Given the description of an element on the screen output the (x, y) to click on. 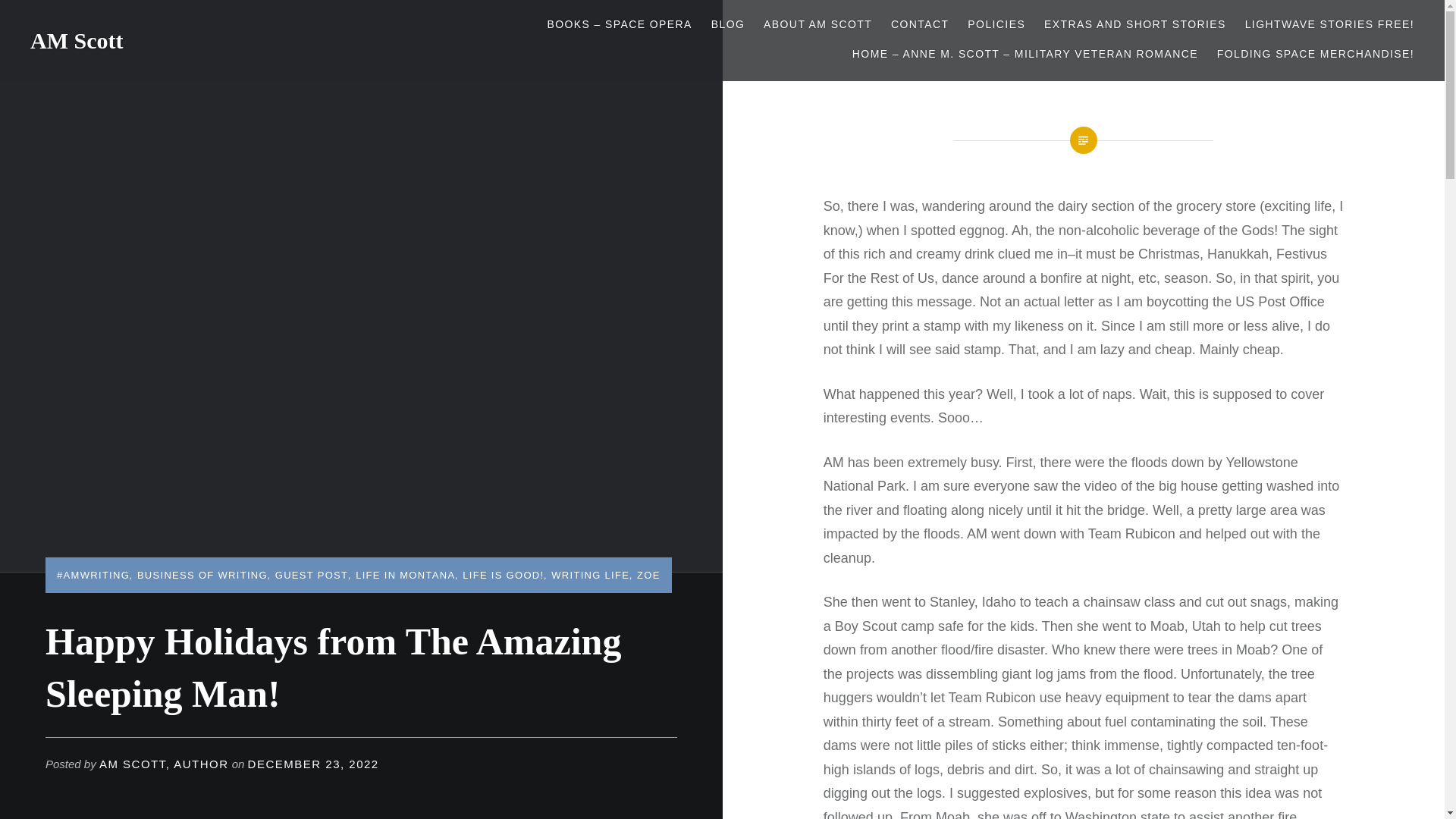
ABOUT AM SCOTT (817, 24)
CONTACT (920, 24)
EXTRAS AND SHORT STORIES (1134, 24)
ZOE (649, 574)
FOLDING SPACE MERCHANDISE! (1315, 54)
LIFE IN MONTANA (404, 574)
POLICIES (996, 24)
AM Scott (76, 40)
BUSINESS OF WRITING (201, 574)
WRITING LIFE (589, 574)
Search (284, 19)
LIFE IS GOOD! (503, 574)
BLOG (728, 24)
LIGHTWAVE STORIES FREE! (1328, 24)
